Given the description of an element on the screen output the (x, y) to click on. 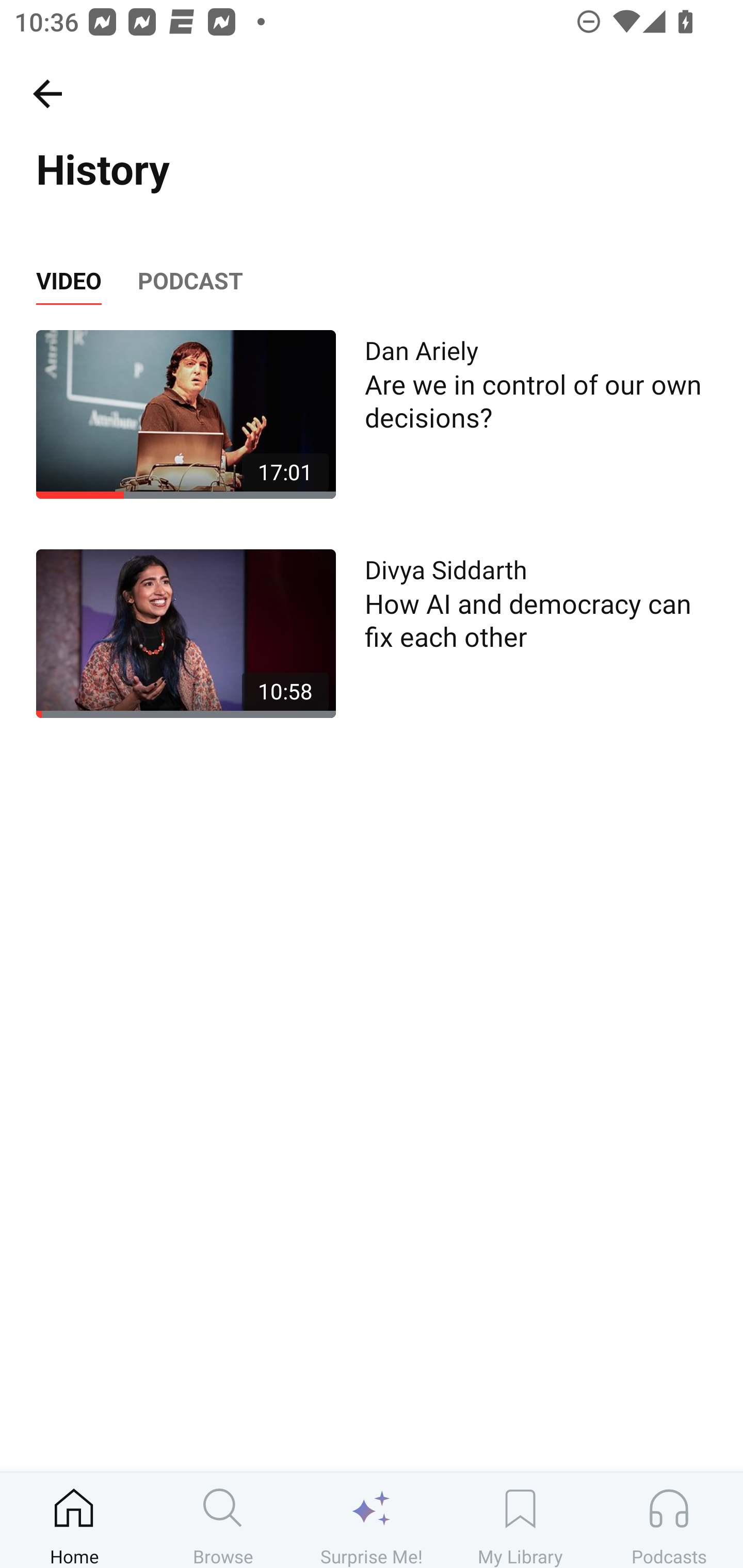
My Profile, back (47, 92)
VIDEO (68, 281)
PODCAST (189, 281)
Home (74, 1520)
Browse (222, 1520)
Surprise Me! (371, 1520)
My Library (519, 1520)
Podcasts (668, 1520)
